Given the description of an element on the screen output the (x, y) to click on. 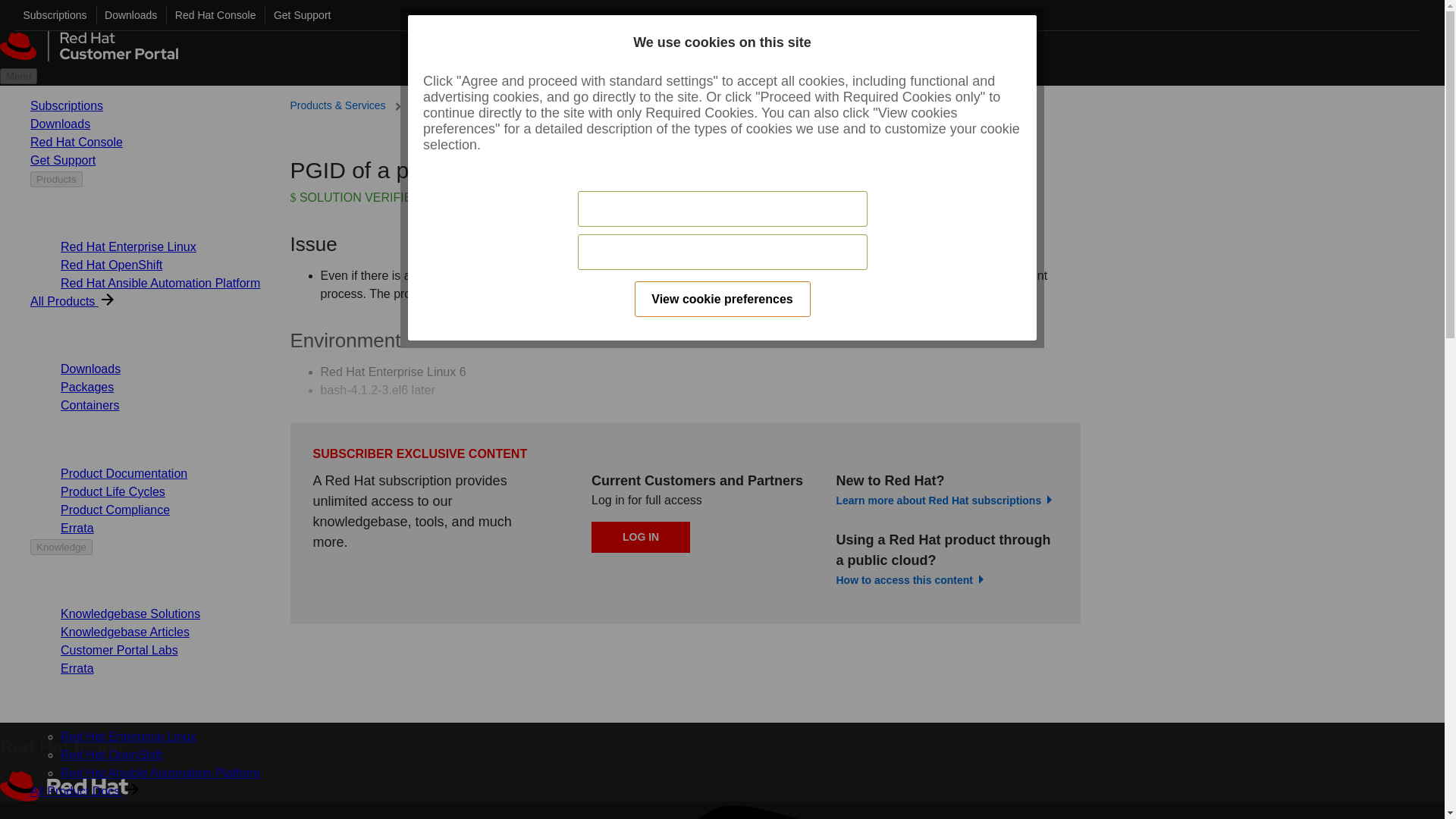
Downloads (126, 14)
Get Support (297, 14)
Subscriptions (50, 14)
Red Hat Console (210, 14)
